Given the description of an element on the screen output the (x, y) to click on. 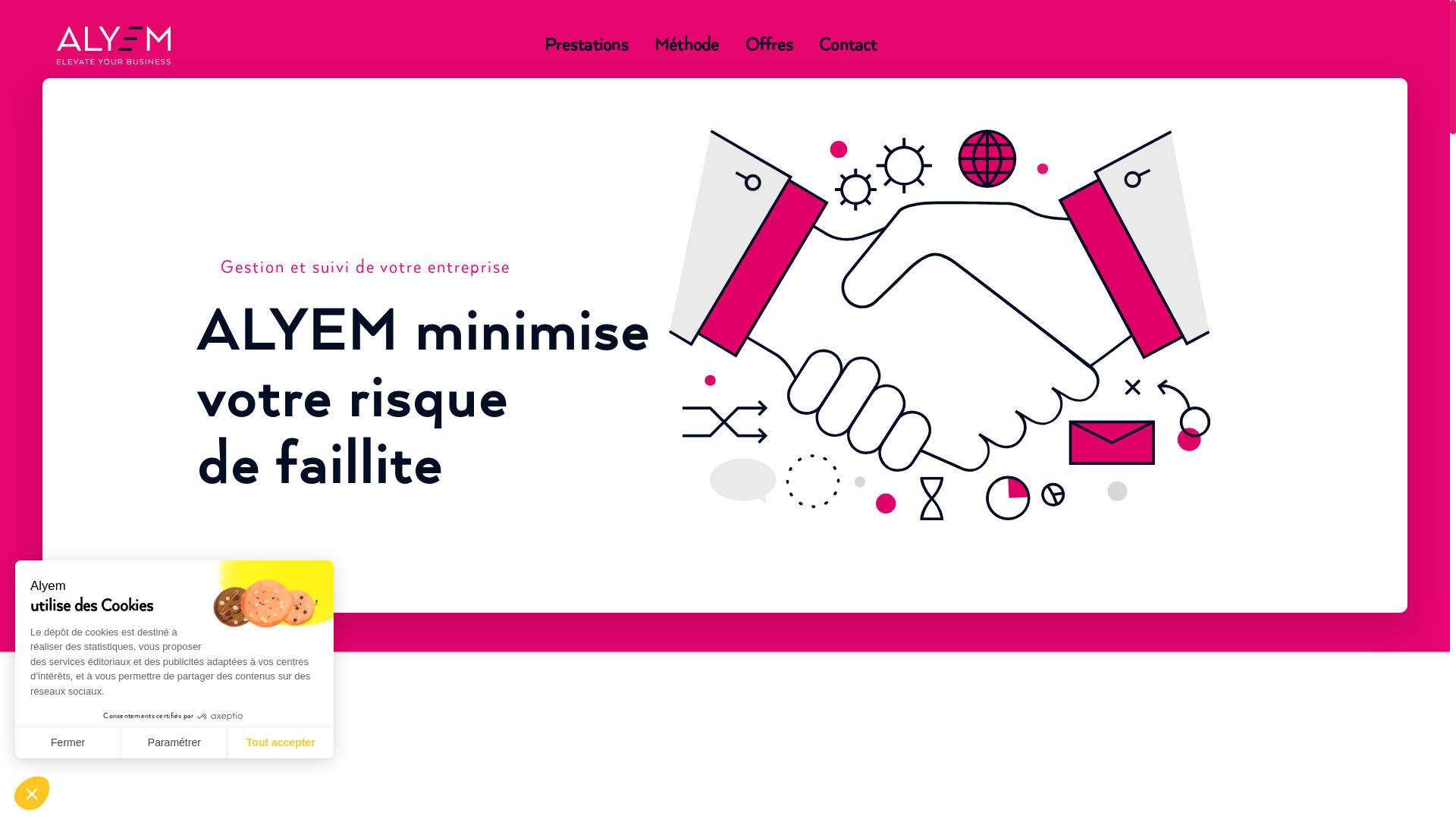
Contact Element type: text (847, 45)
Prestations Element type: text (586, 45)
Close the widget without accepting cookie settings Element type: hover (31, 793)
Tout accepter Element type: text (280, 742)
Offres Element type: text (769, 45)
Fermer Element type: text (68, 742)
